Given the description of an element on the screen output the (x, y) to click on. 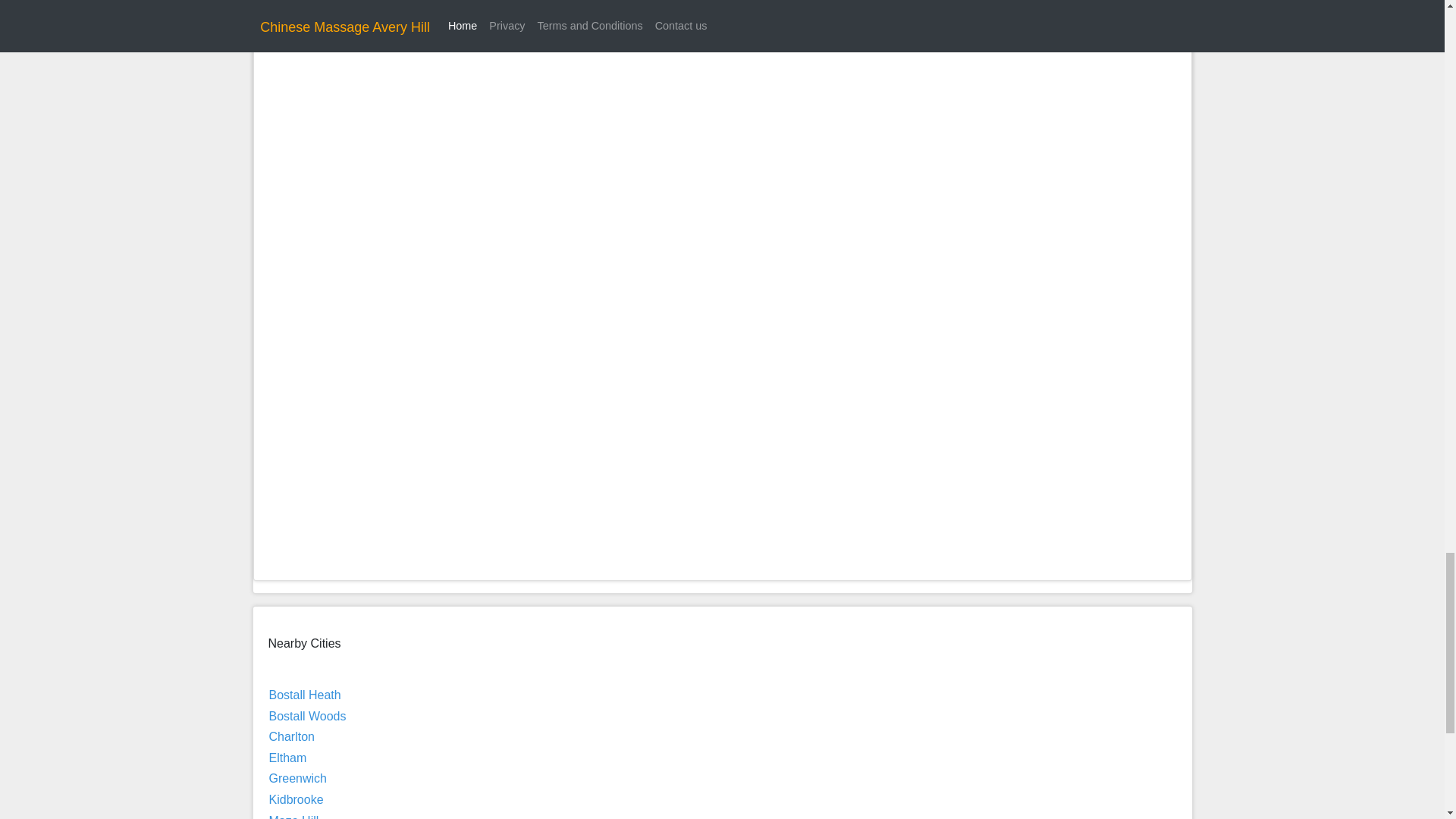
Kidbrooke (295, 799)
Bostall Woods (306, 716)
Greenwich (296, 778)
Maze Hill (292, 816)
Eltham (286, 757)
Charlton (290, 736)
Bostall Heath (303, 694)
